Given the description of an element on the screen output the (x, y) to click on. 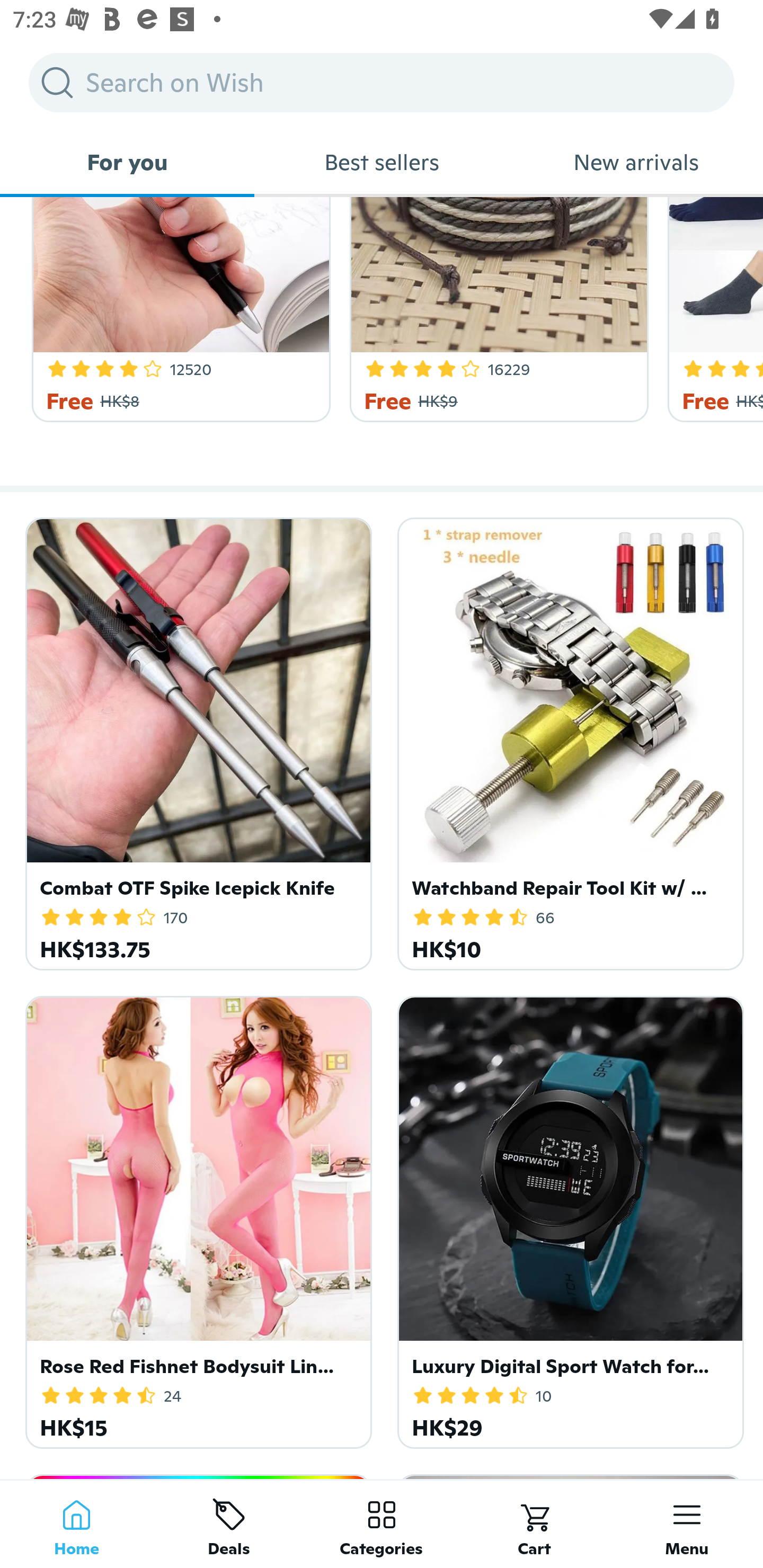
Search on Wish (381, 82)
For you (127, 161)
Best sellers (381, 161)
New arrivals (635, 161)
3.9 Star Rating 12520 Free HK$8 (177, 309)
3.8 Star Rating 16229 Free HK$9 (495, 309)
Home (76, 1523)
Deals (228, 1523)
Categories (381, 1523)
Cart (533, 1523)
Menu (686, 1523)
